Given the description of an element on the screen output the (x, y) to click on. 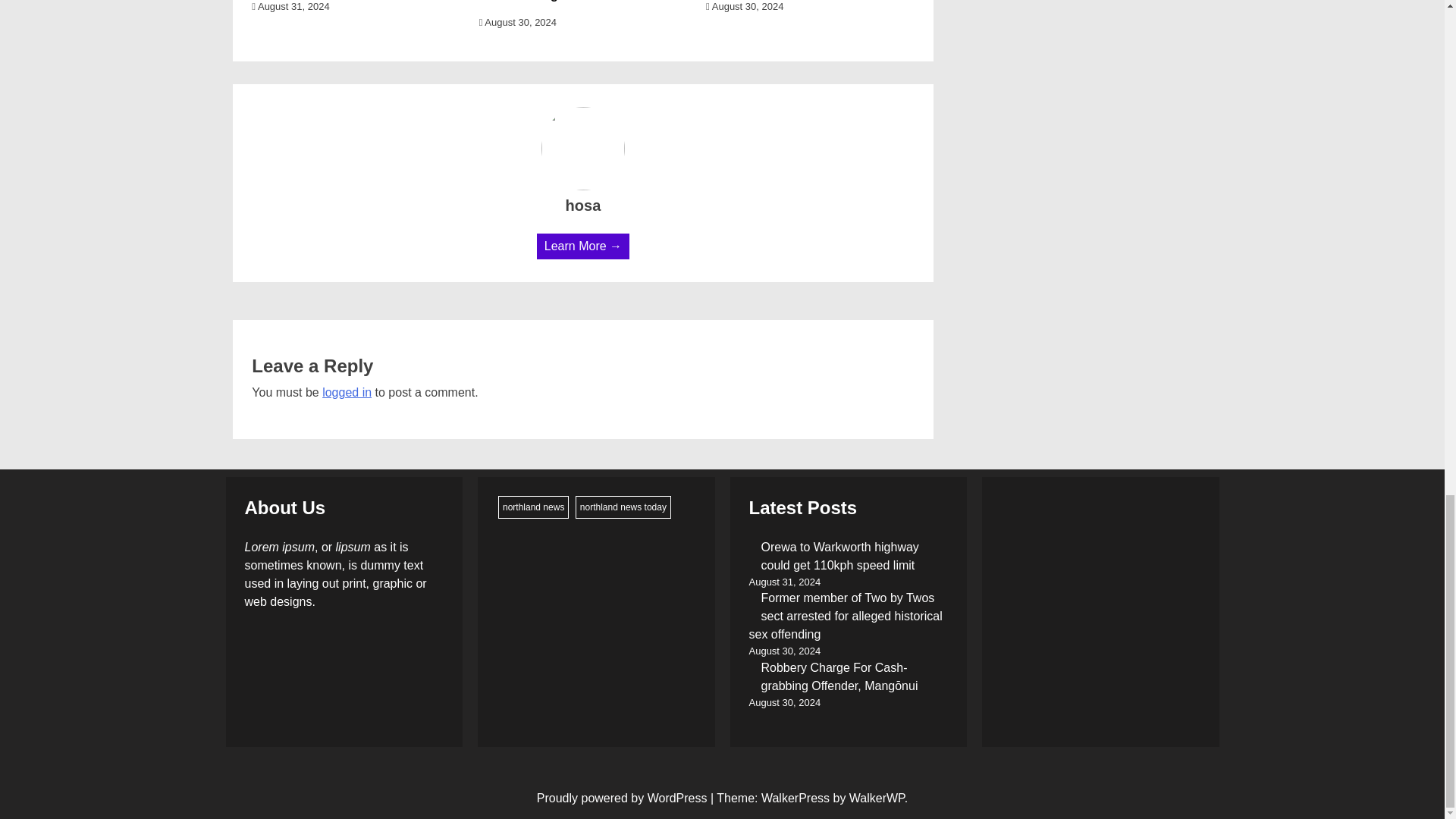
logged in (346, 391)
August 31, 2024 (290, 6)
August 30, 2024 (744, 6)
August 30, 2024 (517, 21)
